Given the description of an element on the screen output the (x, y) to click on. 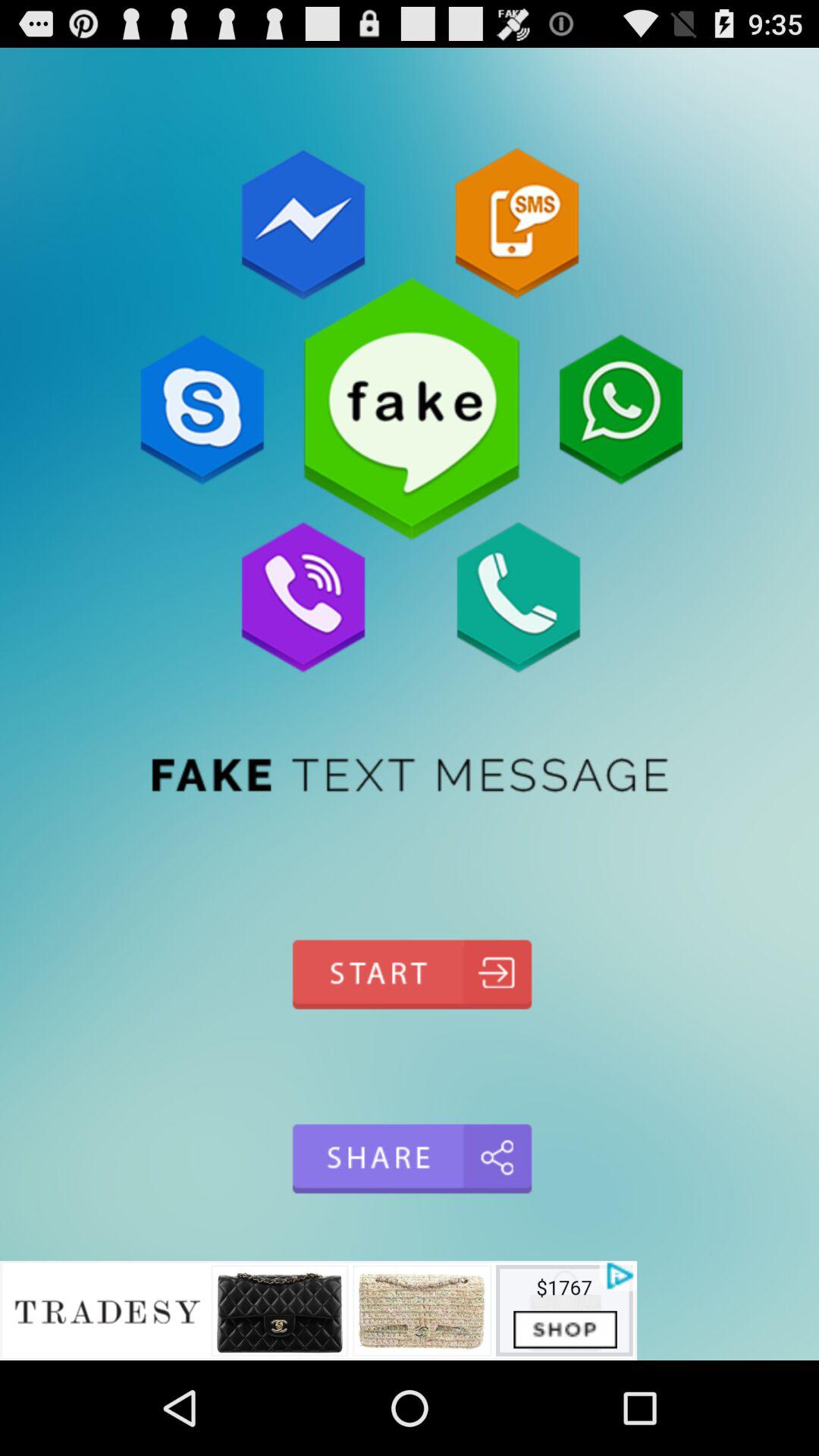
know about the advertisement (318, 1310)
